Given the description of an element on the screen output the (x, y) to click on. 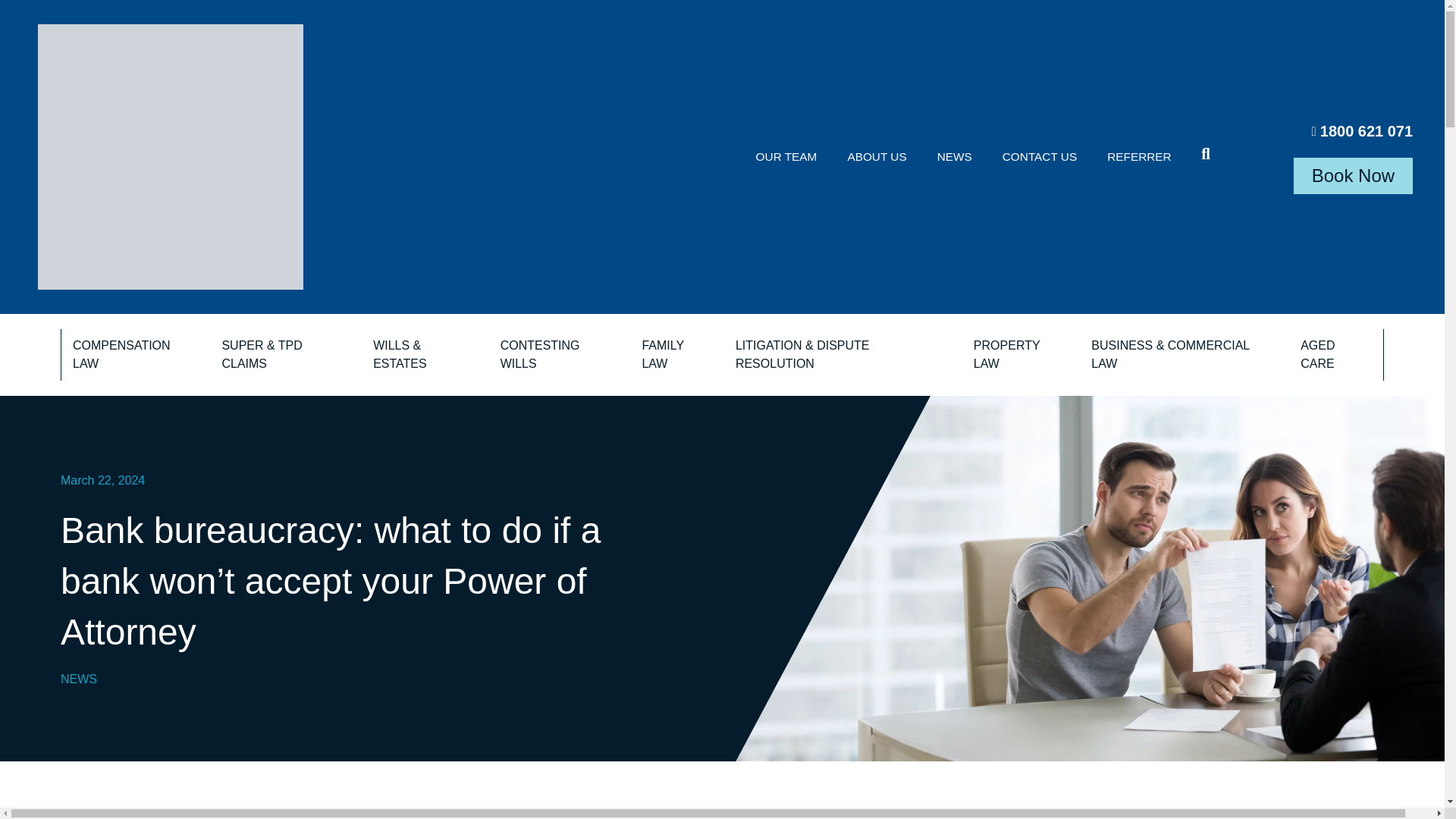
Aged Care (1335, 354)
CONTACT US (1039, 156)
OUR TEAM (786, 156)
Book Now (1353, 176)
Family Law (676, 354)
Compensation Law (135, 354)
Property Law (1021, 354)
NEWS (954, 156)
REFERRER (1139, 156)
ABOUT US (876, 156)
